Given the description of an element on the screen output the (x, y) to click on. 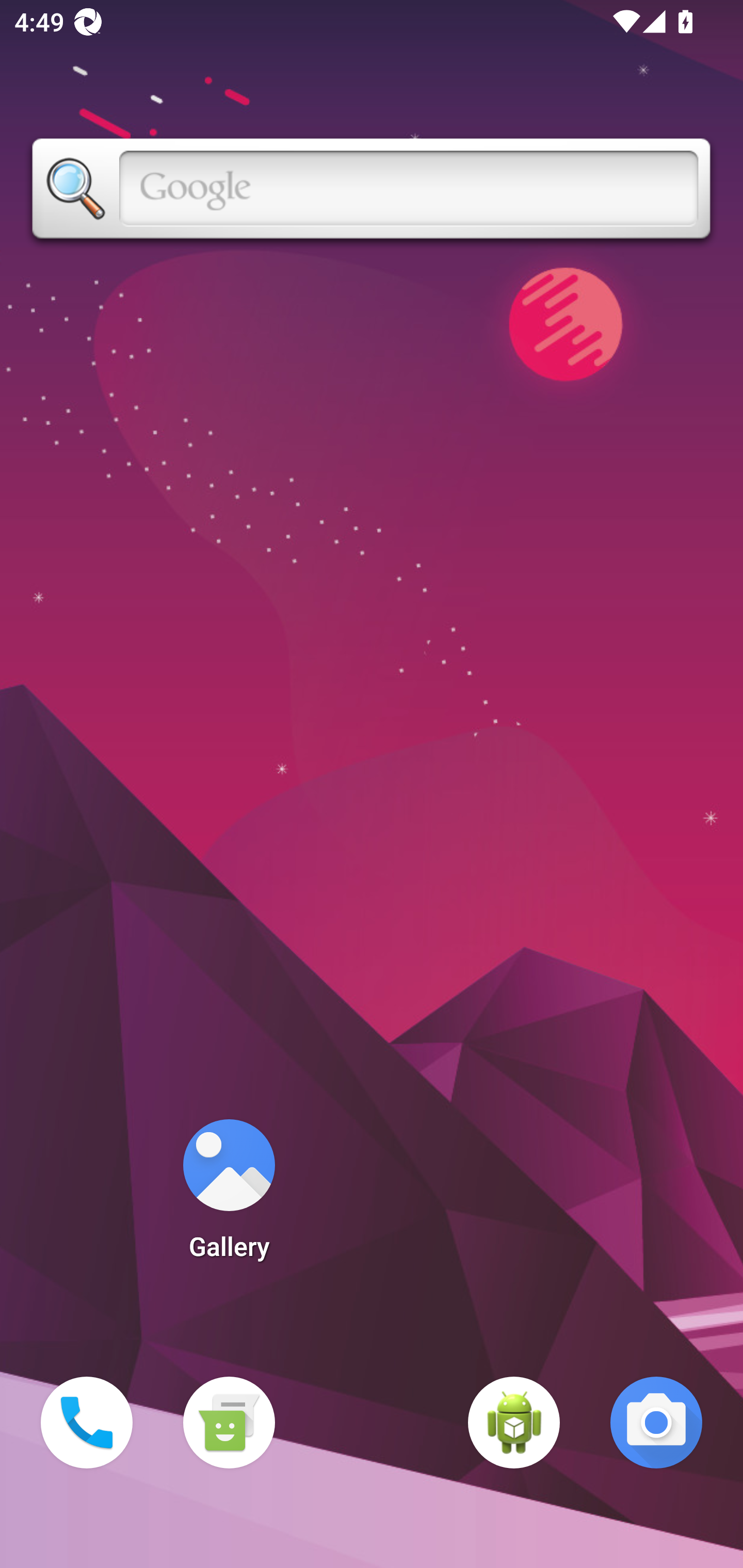
Gallery (228, 1195)
Phone (86, 1422)
Messaging (228, 1422)
WebView Browser Tester (513, 1422)
Camera (656, 1422)
